Given the description of an element on the screen output the (x, y) to click on. 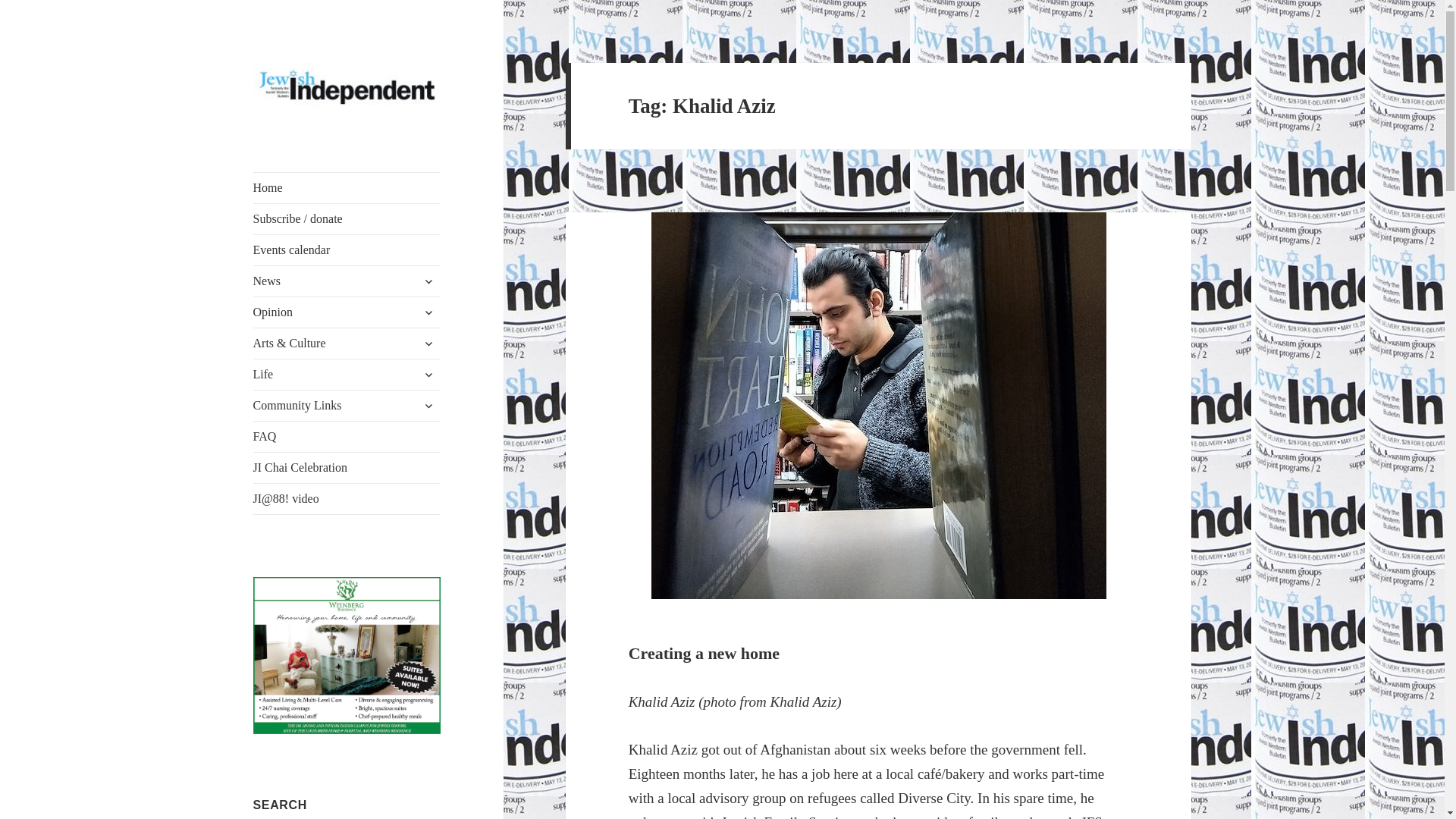
expand child menu (428, 374)
Events calendar (347, 250)
Opinion (347, 312)
expand child menu (428, 281)
expand child menu (428, 343)
JI Chai Celebration (347, 467)
expand child menu (428, 312)
News (347, 281)
expand child menu (428, 405)
Life (347, 374)
FAQ (347, 436)
Community Links (347, 405)
Home (347, 187)
